Given the description of an element on the screen output the (x, y) to click on. 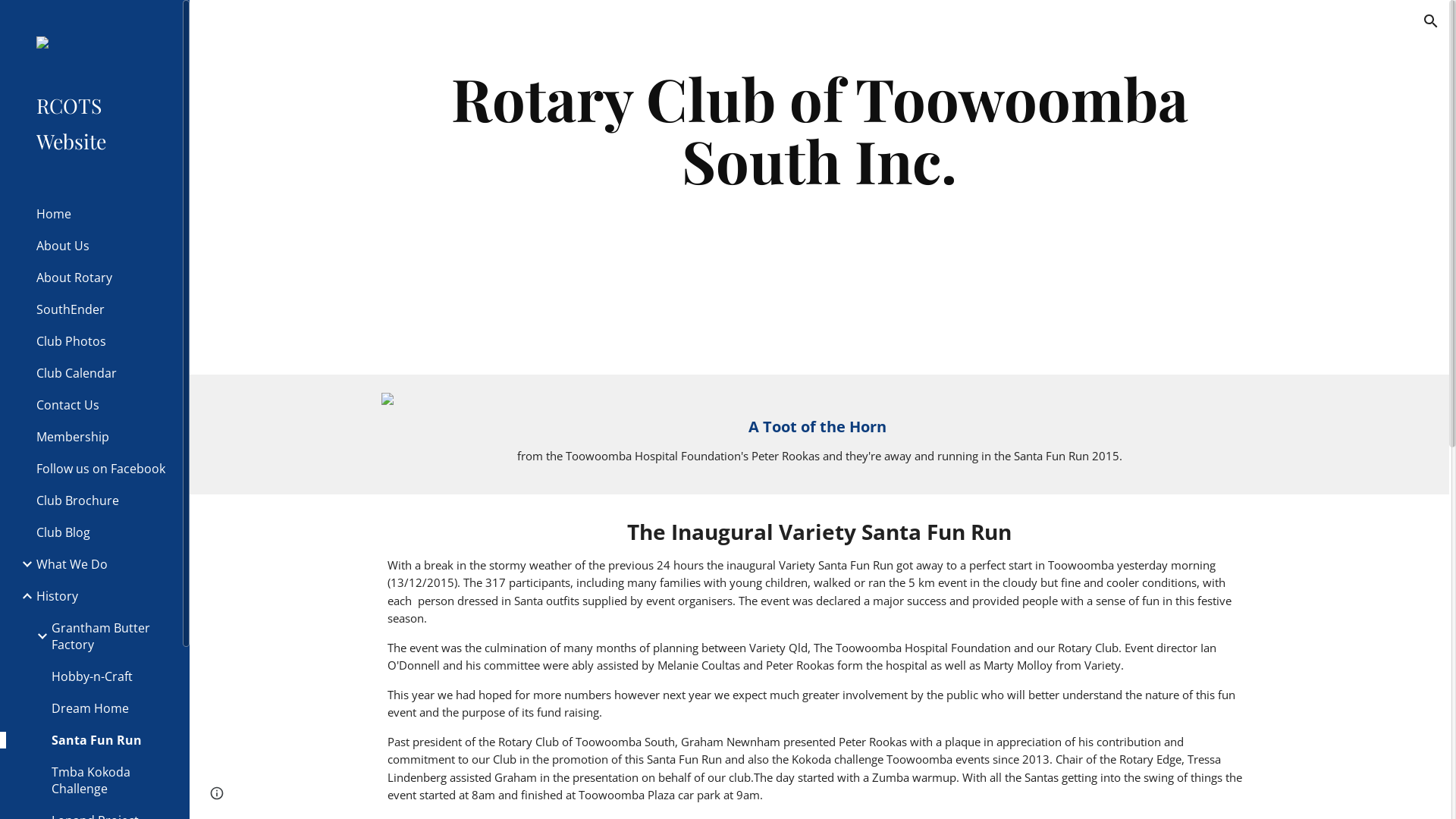
Follow us on Facebook Element type: text (103, 468)
Club Photos Element type: text (103, 340)
Membership Element type: text (103, 436)
Home Element type: text (103, 213)
RCOTS Website Element type: text (97, 122)
Expand/Collapse Element type: hover (37, 636)
Contact Us Element type: text (103, 404)
About Us Element type: text (103, 245)
Tmba Kokoda Challenge Element type: text (110, 780)
SouthEnder Element type: text (103, 309)
About Rotary Element type: text (103, 277)
What We Do Element type: text (103, 563)
Grantham Butter Factory Element type: text (110, 635)
Club Blog Element type: text (103, 532)
History Element type: text (103, 595)
Club Brochure Element type: text (103, 500)
Santa Fun Run Element type: text (110, 739)
Expand/Collapse Element type: hover (22, 564)
Hobby-n-Craft Element type: text (110, 676)
Dream Home Element type: text (110, 707)
Expand/Collapse Element type: hover (22, 595)
Club Calendar Element type: text (103, 372)
